Given the description of an element on the screen output the (x, y) to click on. 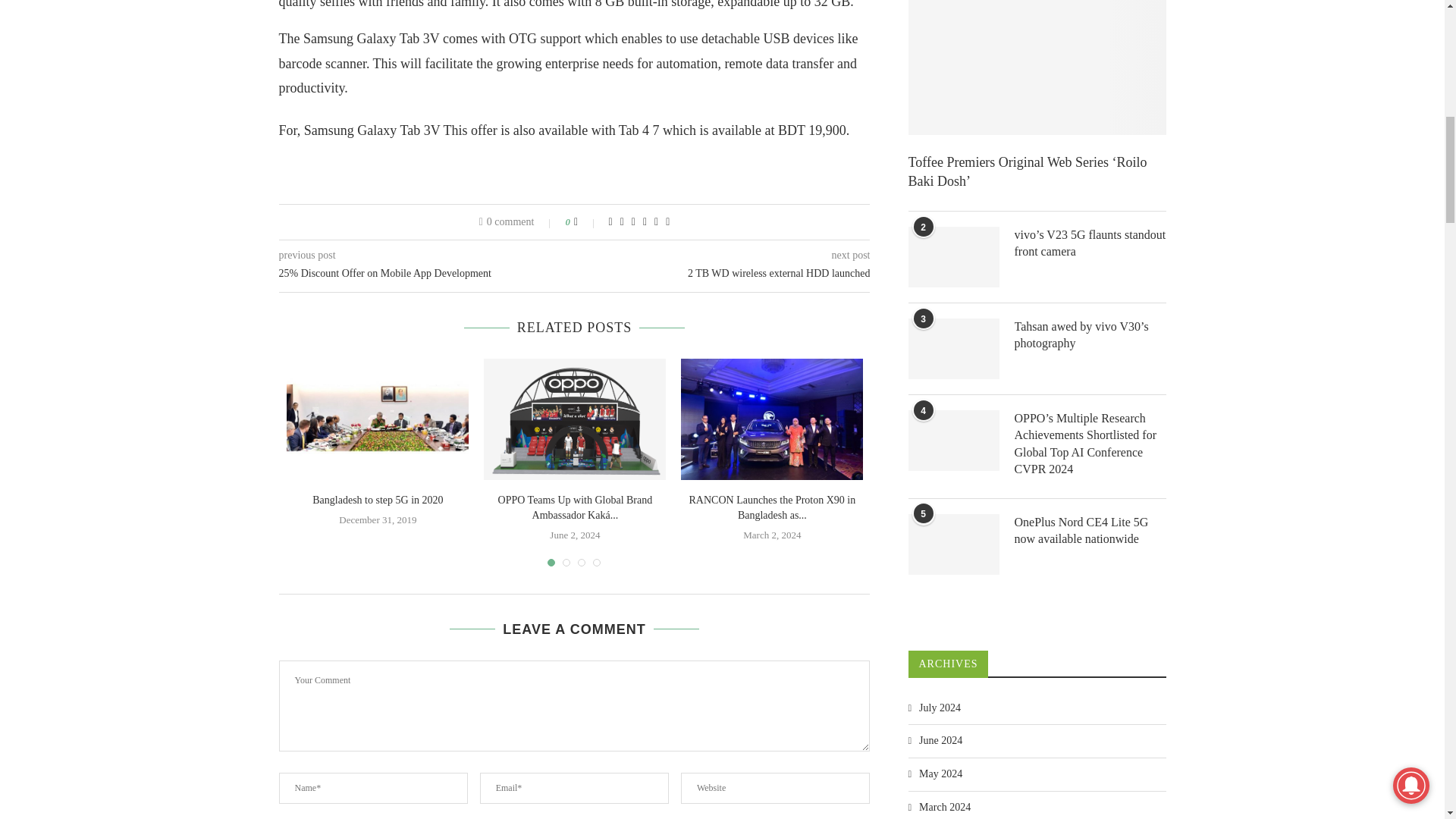
Like (585, 222)
Bangladesh to step 5G in 2020 (377, 418)
